Given the description of an element on the screen output the (x, y) to click on. 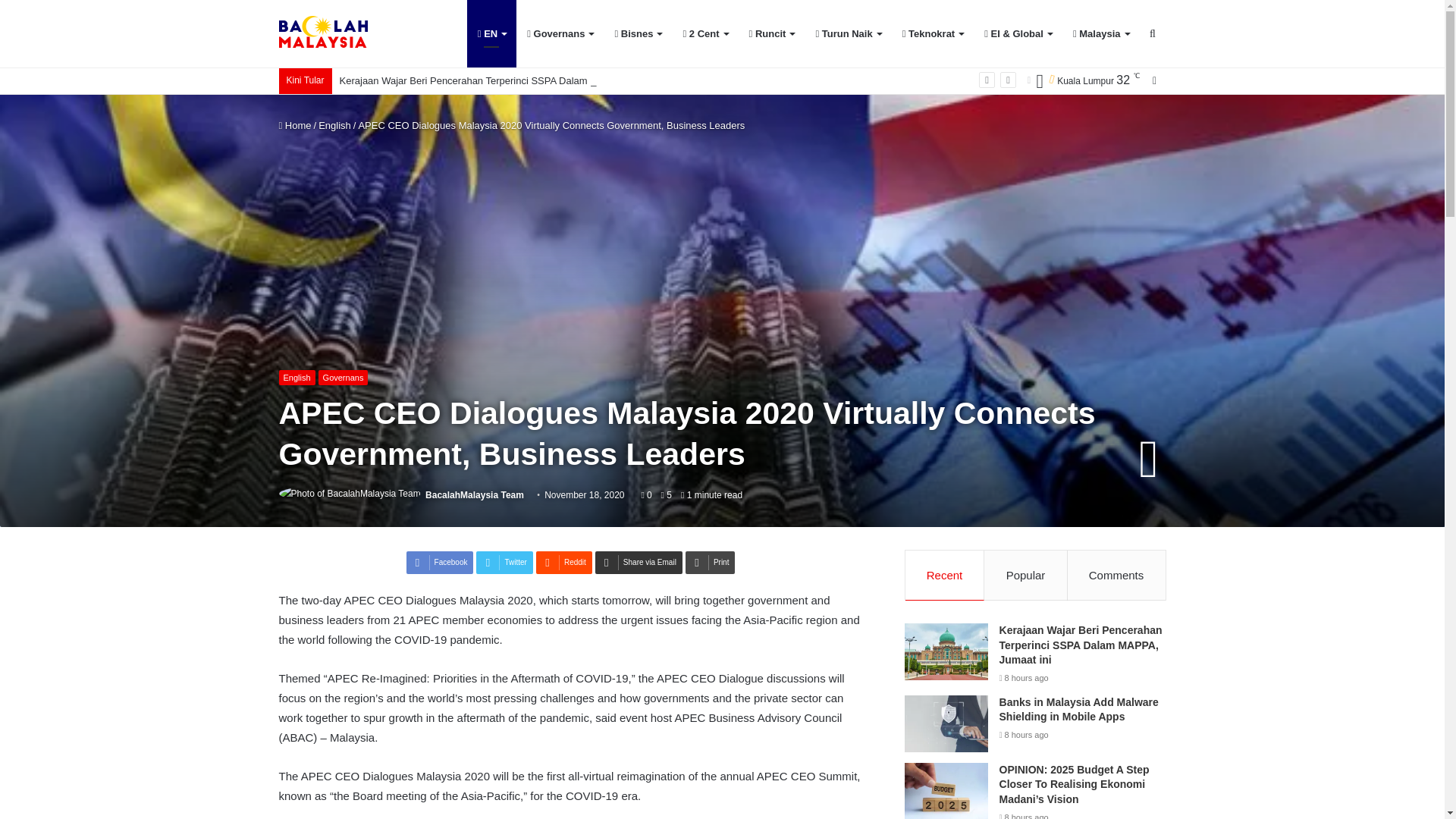
Print (710, 562)
Teknokrat (932, 33)
English (334, 125)
BacalahMalaysia Team (474, 494)
Bisnes (637, 33)
Facebook (440, 562)
Scattered Clouds (1080, 80)
Twitter (504, 562)
Reddit (563, 562)
